Given the description of an element on the screen output the (x, y) to click on. 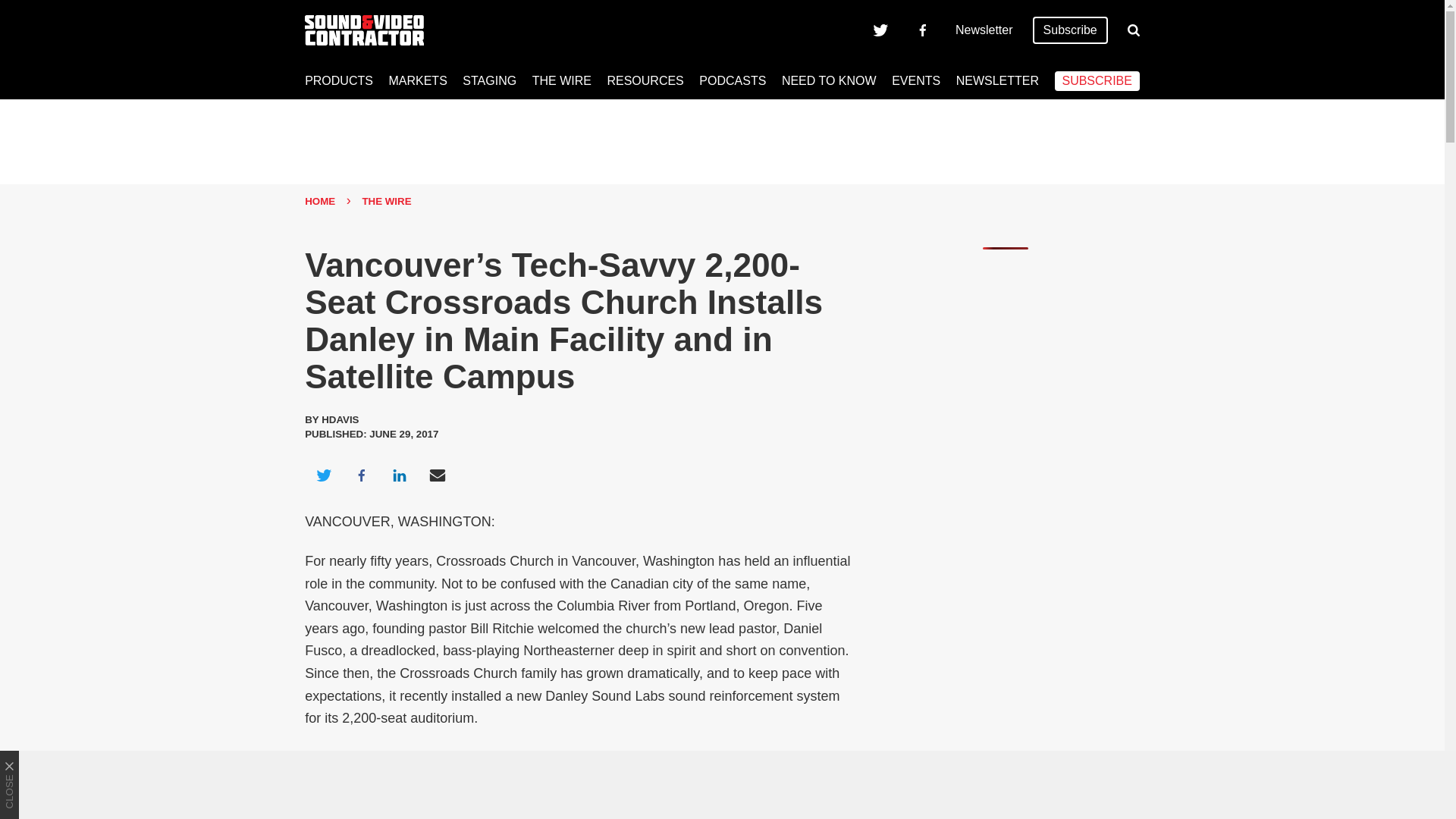
Share on LinkedIn (399, 475)
Share via Email (438, 475)
Share on Twitter (323, 475)
Share on Facebook (361, 475)
